Given the description of an element on the screen output the (x, y) to click on. 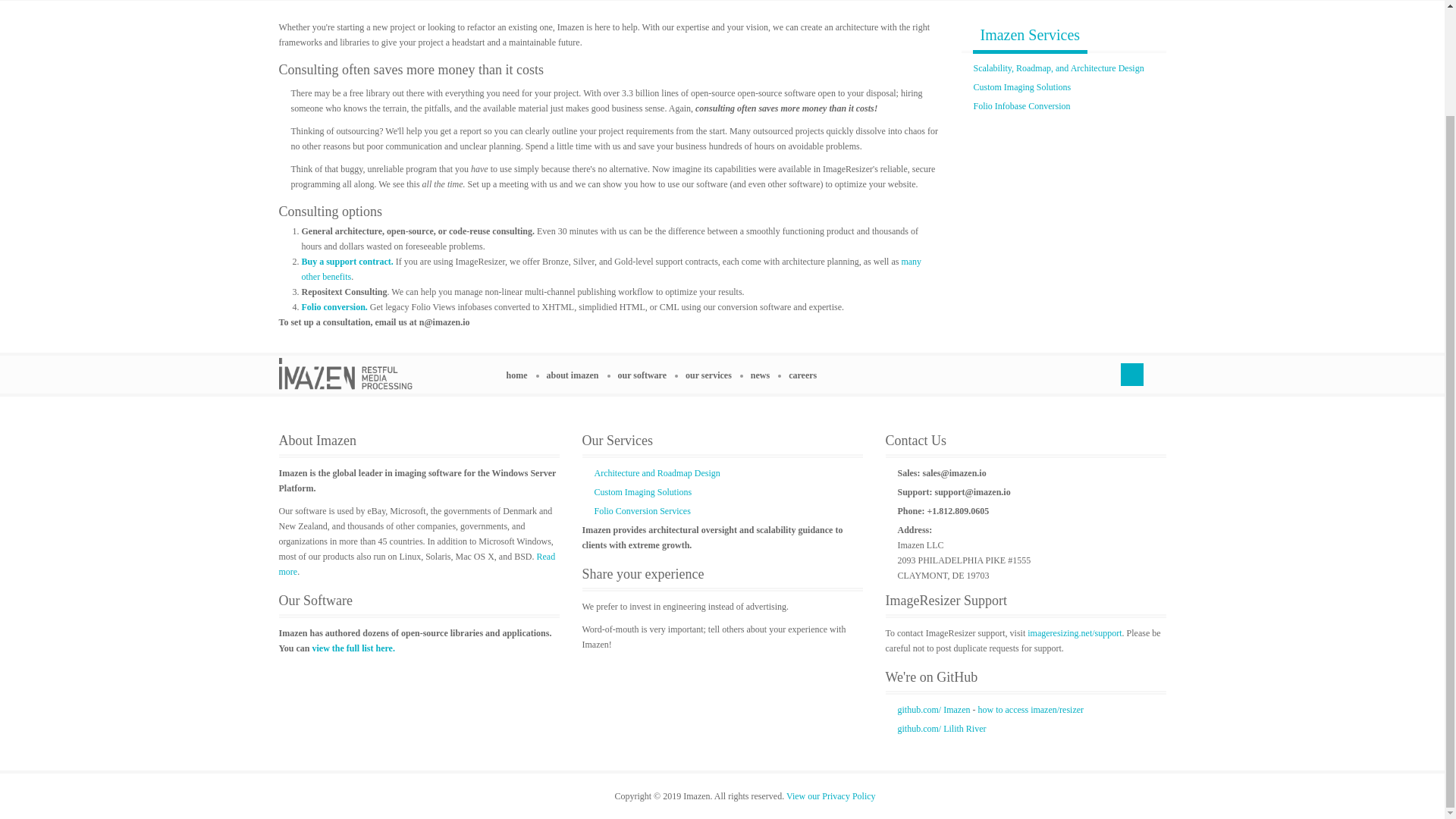
Folio conversion. (334, 307)
home (522, 374)
Scalability, Roadmap, and Architecture Design (1059, 67)
Custom Imaging Solutions (643, 491)
our services (713, 374)
Custom Imaging Solutions (1022, 86)
news (765, 374)
Imazen Services (1029, 33)
Read more (417, 563)
View our Privacy Policy (831, 795)
